Given the description of an element on the screen output the (x, y) to click on. 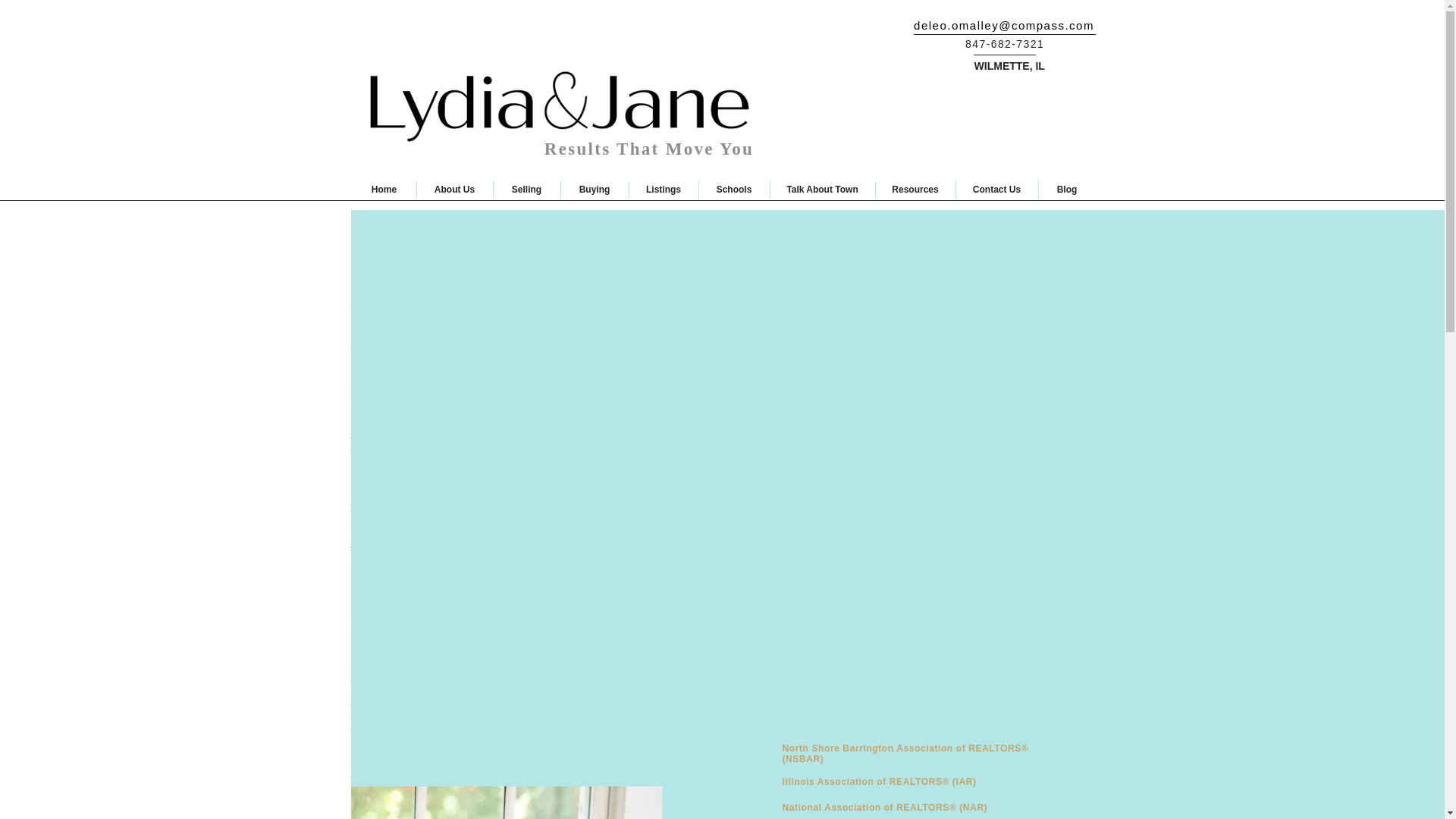
Talk About Town (822, 189)
Selling (526, 189)
Results That Move You (649, 148)
Home (383, 189)
Blog (1067, 189)
Listings (663, 189)
Buying (594, 189)
Contact Us (995, 189)
